Given the description of an element on the screen output the (x, y) to click on. 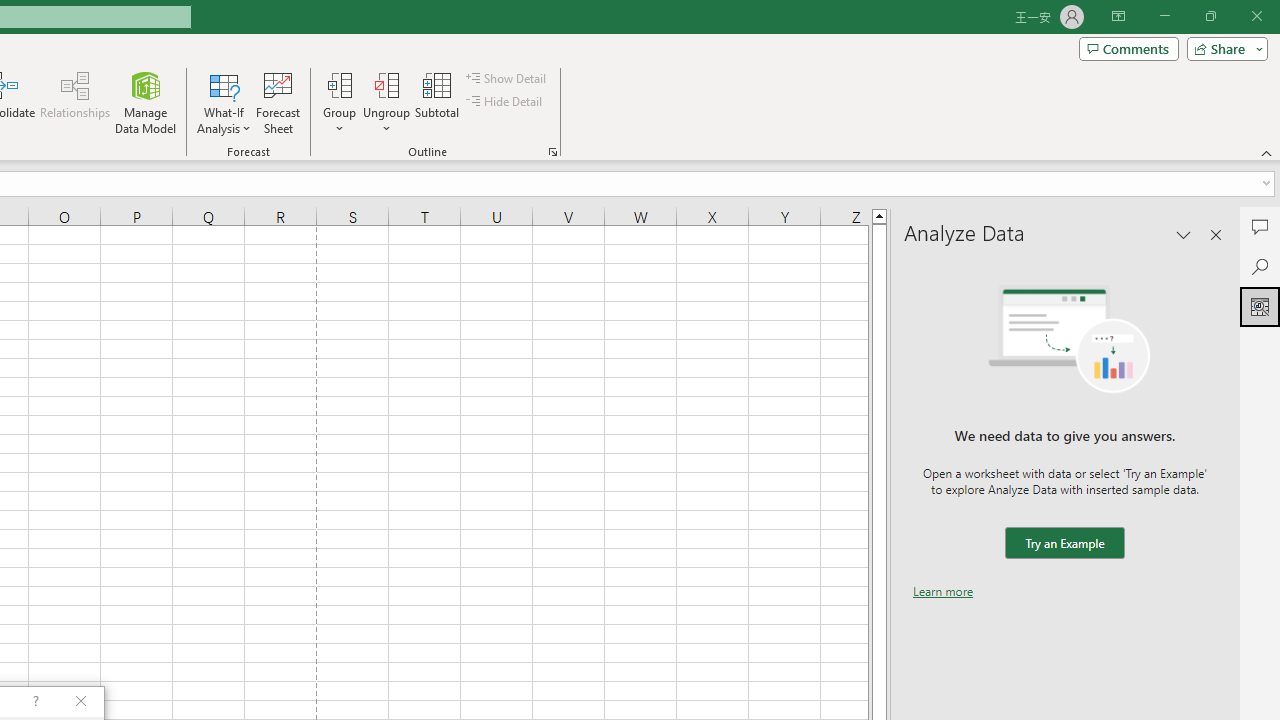
What-If Analysis (223, 102)
Hide Detail (505, 101)
Relationships (75, 102)
Manage Data Model (145, 102)
